Given the description of an element on the screen output the (x, y) to click on. 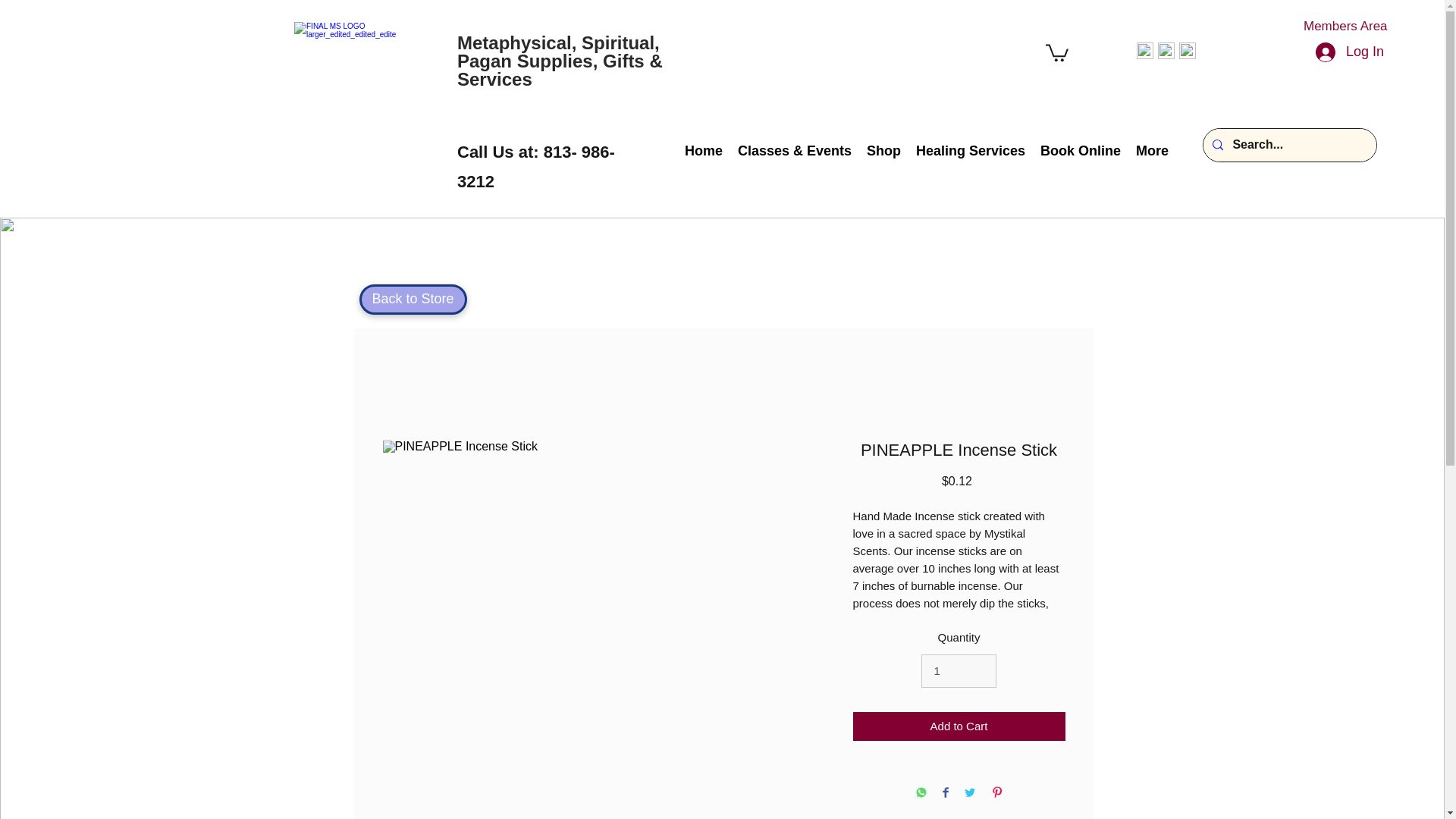
Log In (1349, 52)
Back to Store (413, 299)
Shop (883, 149)
Add to Cart (957, 726)
1 (958, 670)
Healing Services (970, 149)
Book Online (1080, 149)
Home (703, 149)
